Given the description of an element on the screen output the (x, y) to click on. 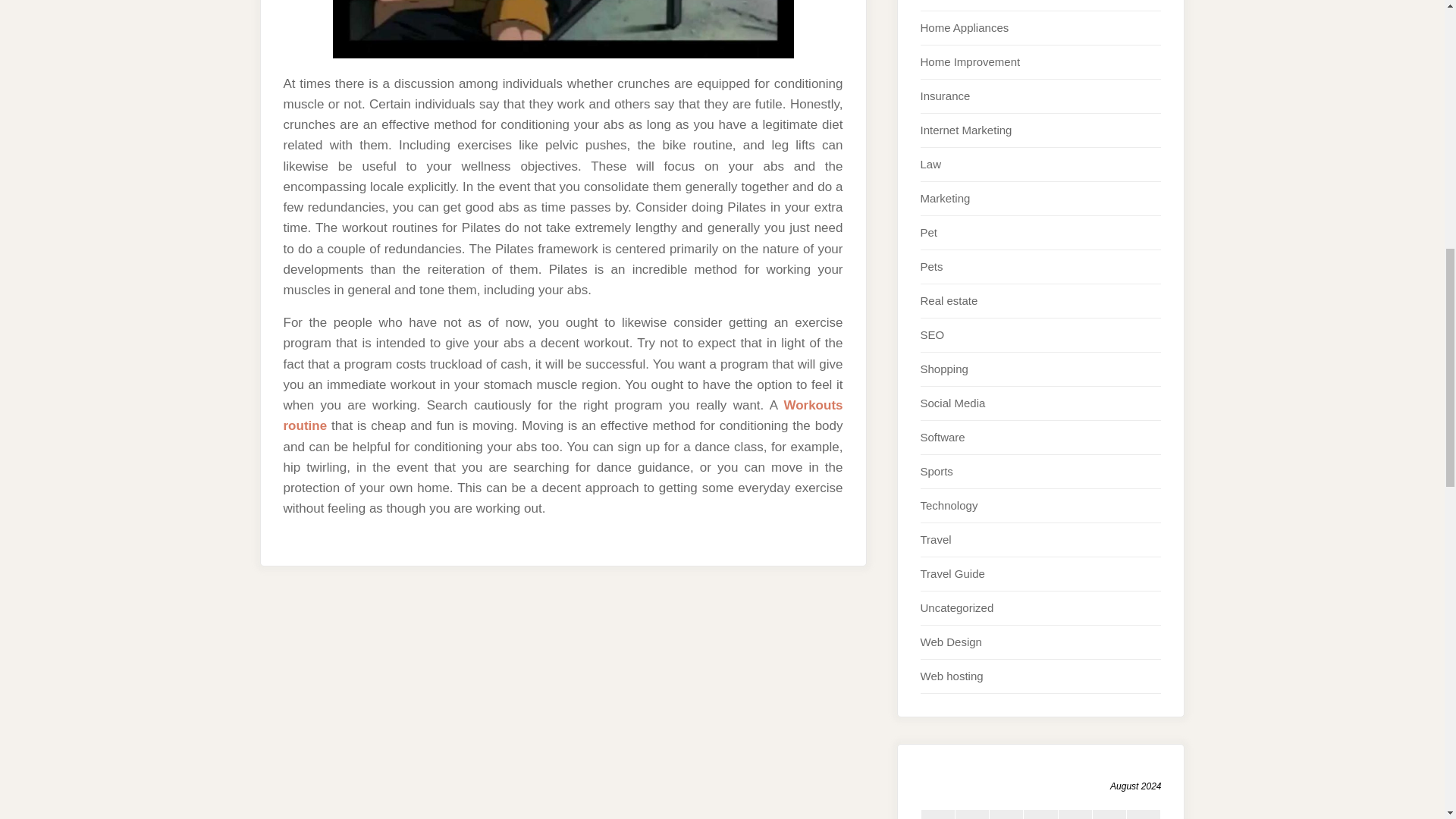
Marketing (945, 197)
Pets (931, 266)
Home Appliances (964, 27)
Sunday (1143, 814)
Home Improvement (970, 61)
Tuesday (971, 814)
Pet (928, 232)
Monday (937, 814)
Wednesday (1005, 814)
SEO (932, 334)
Social Media (952, 402)
Insurance (945, 95)
Shopping (944, 368)
Real estate (949, 300)
Saturday (1108, 814)
